Given the description of an element on the screen output the (x, y) to click on. 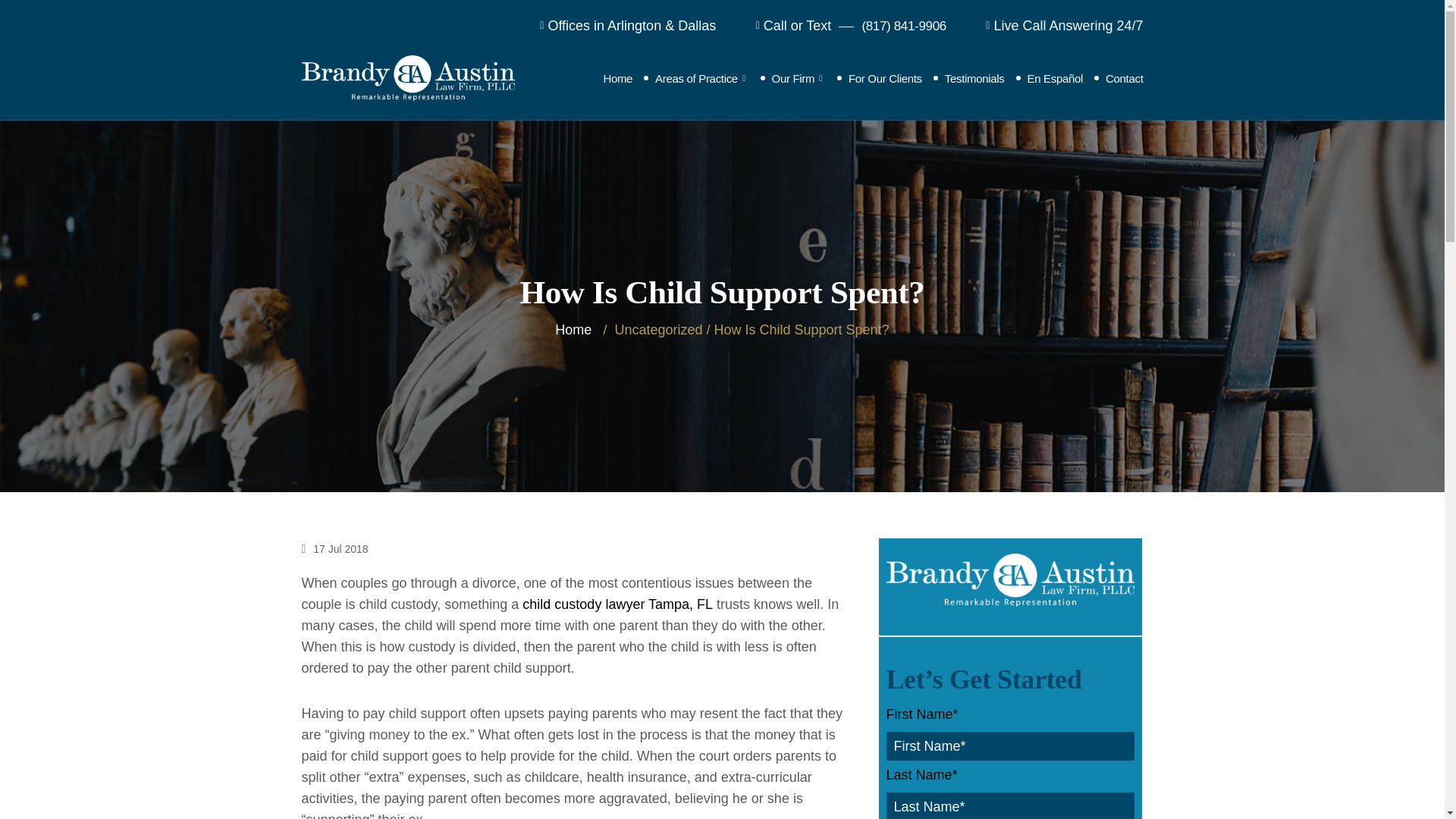
Areas of Practice (701, 77)
